Given the description of an element on the screen output the (x, y) to click on. 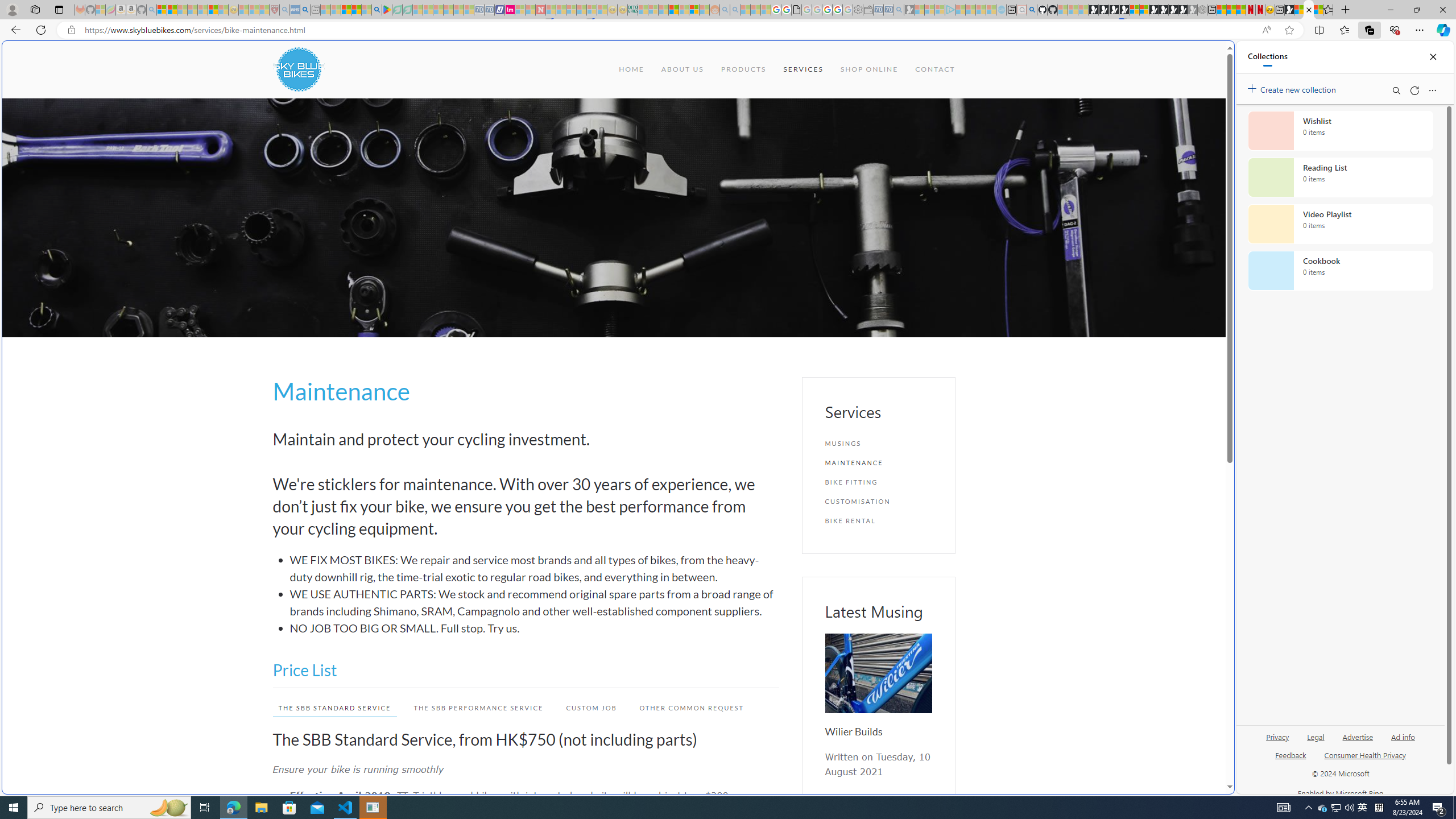
SERVICES (802, 68)
Pets - MSN (356, 9)
THE SBB STANDARD SERVICE (334, 707)
Wishlist collection, 0 items (1339, 130)
